Given the description of an element on the screen output the (x, y) to click on. 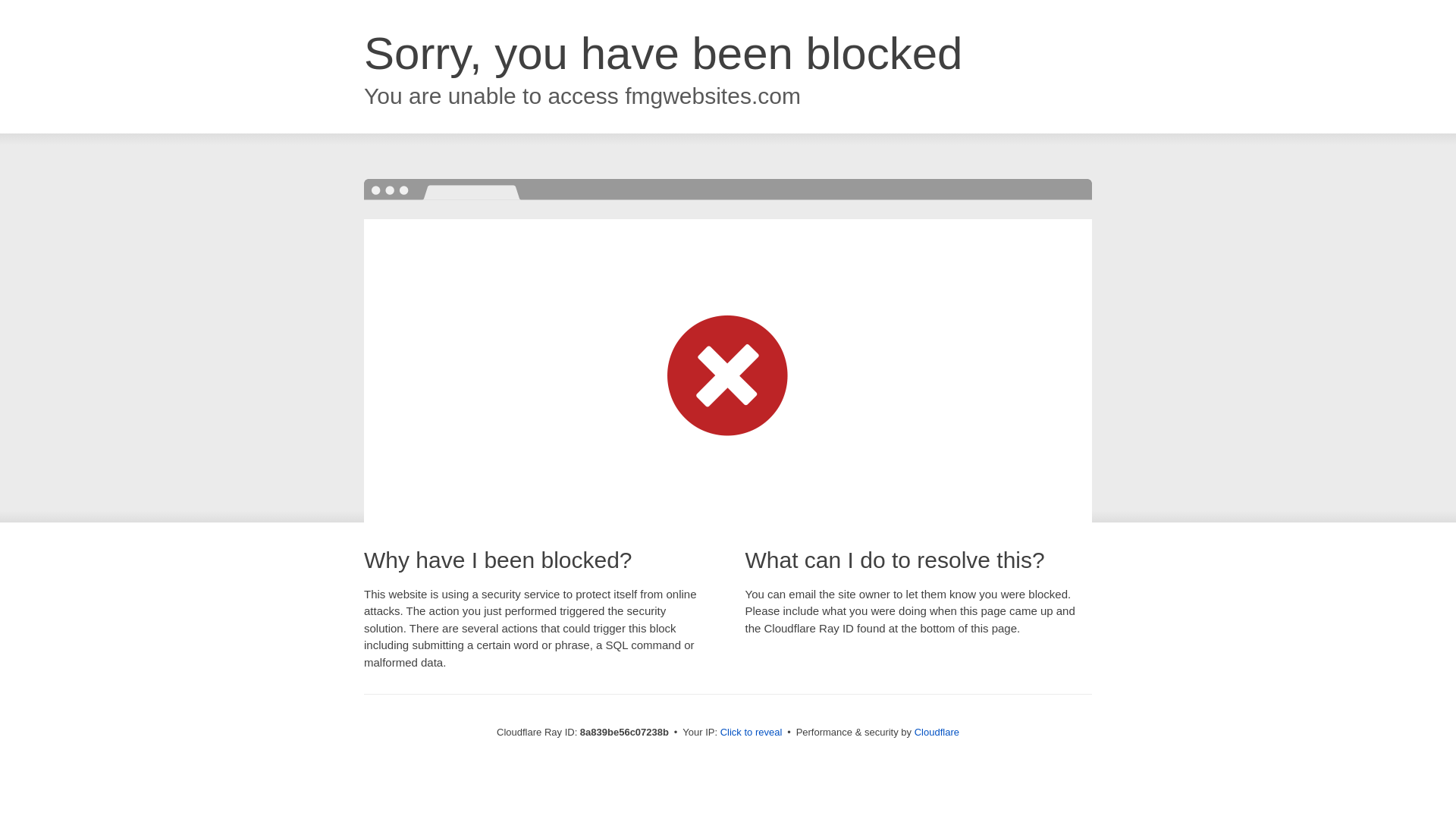
Cloudflare (936, 731)
Click to reveal (751, 732)
